Given the description of an element on the screen output the (x, y) to click on. 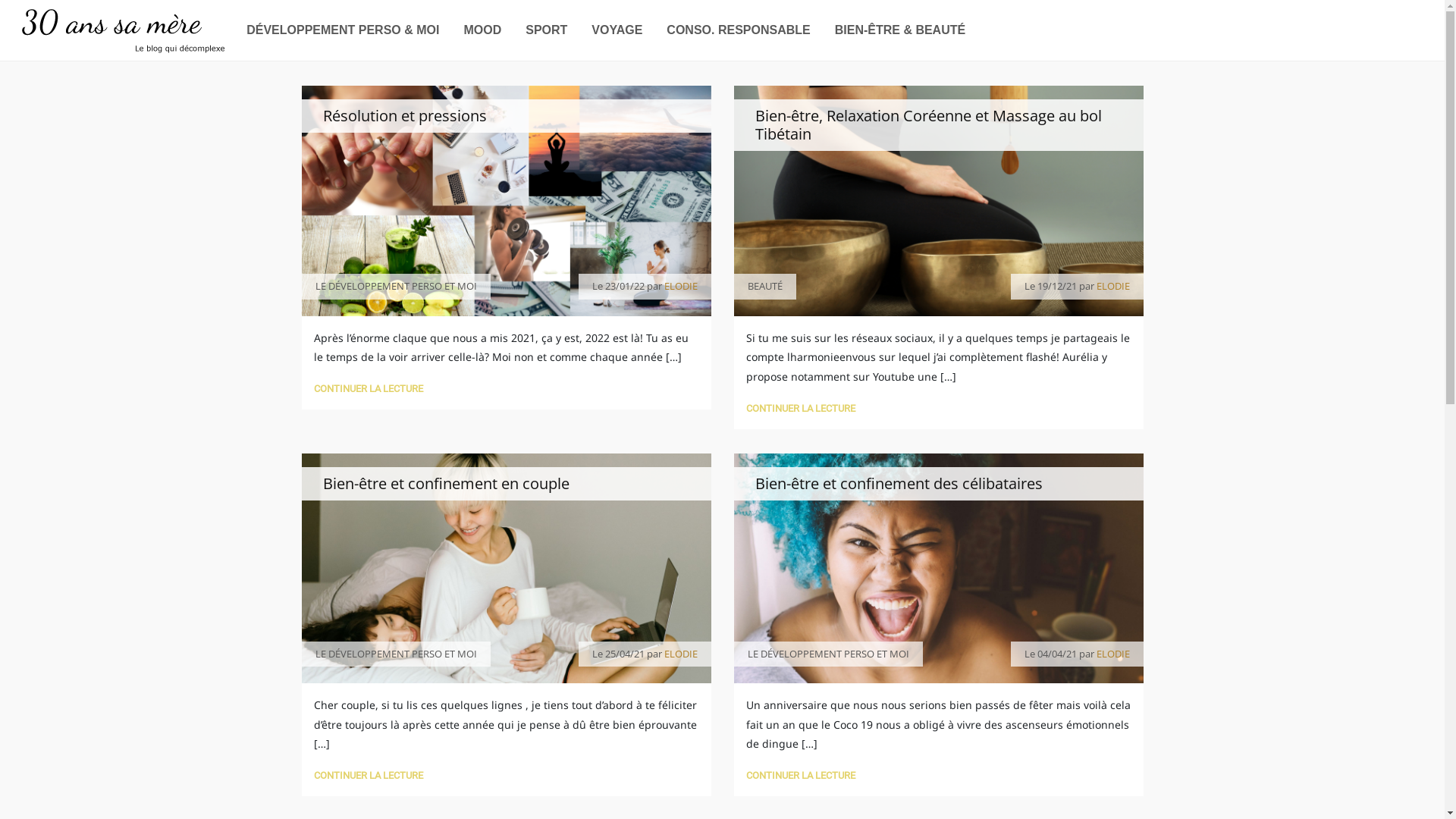
ELODIE Element type: text (1112, 653)
SPORT Element type: text (546, 30)
VOYAGE Element type: text (616, 30)
ELODIE Element type: text (680, 653)
CONTINUER LA LECTURE Element type: text (800, 408)
ELODIE Element type: text (680, 285)
ELODIE Element type: text (1112, 285)
CONTINUER LA LECTURE Element type: text (368, 388)
Skip to main content Element type: text (0, 61)
MOOD Element type: text (482, 30)
CONTINUER LA LECTURE Element type: text (368, 775)
CONTINUER LA LECTURE Element type: text (800, 775)
CONSO. RESPONSABLE Element type: text (738, 30)
